Given the description of an element on the screen output the (x, y) to click on. 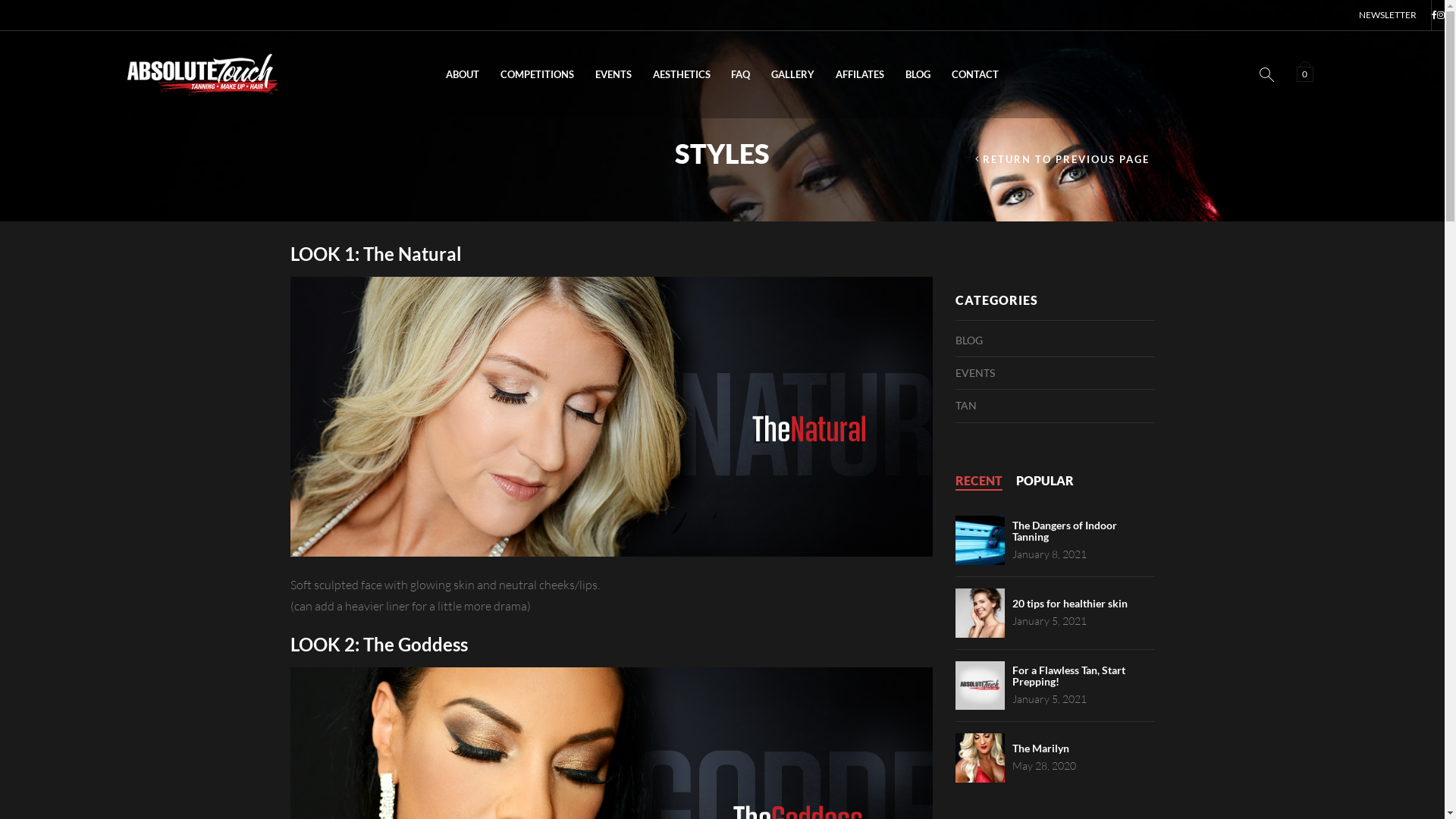
BLOG Element type: text (968, 339)
RECENT Element type: text (978, 480)
FAQ Element type: text (741, 74)
TAN Element type: text (965, 405)
For a Flawless Tan, Start Prepping! Element type: text (1068, 675)
AESTHETICS Element type: text (681, 74)
COMPETITIONS Element type: text (536, 74)
20 tips for healthier skin Element type: text (1069, 602)
CONTACT Element type: text (975, 74)
The Dangers of Indoor Tanning Element type: text (1064, 530)
NEWSLETTER Element type: text (1387, 14)
POPULAR Element type: text (1044, 480)
GALLERY Element type: text (792, 74)
ABOUT Element type: text (462, 74)
EVENTS Element type: text (974, 373)
0 Element type: text (1306, 72)
RETURN TO PREVIOUS PAGE Element type: text (1063, 159)
EVENTS Element type: text (613, 74)
BLOG Element type: text (917, 74)
The Marilyn Element type: text (1040, 747)
AFFILATES Element type: text (859, 74)
